Given the description of an element on the screen output the (x, y) to click on. 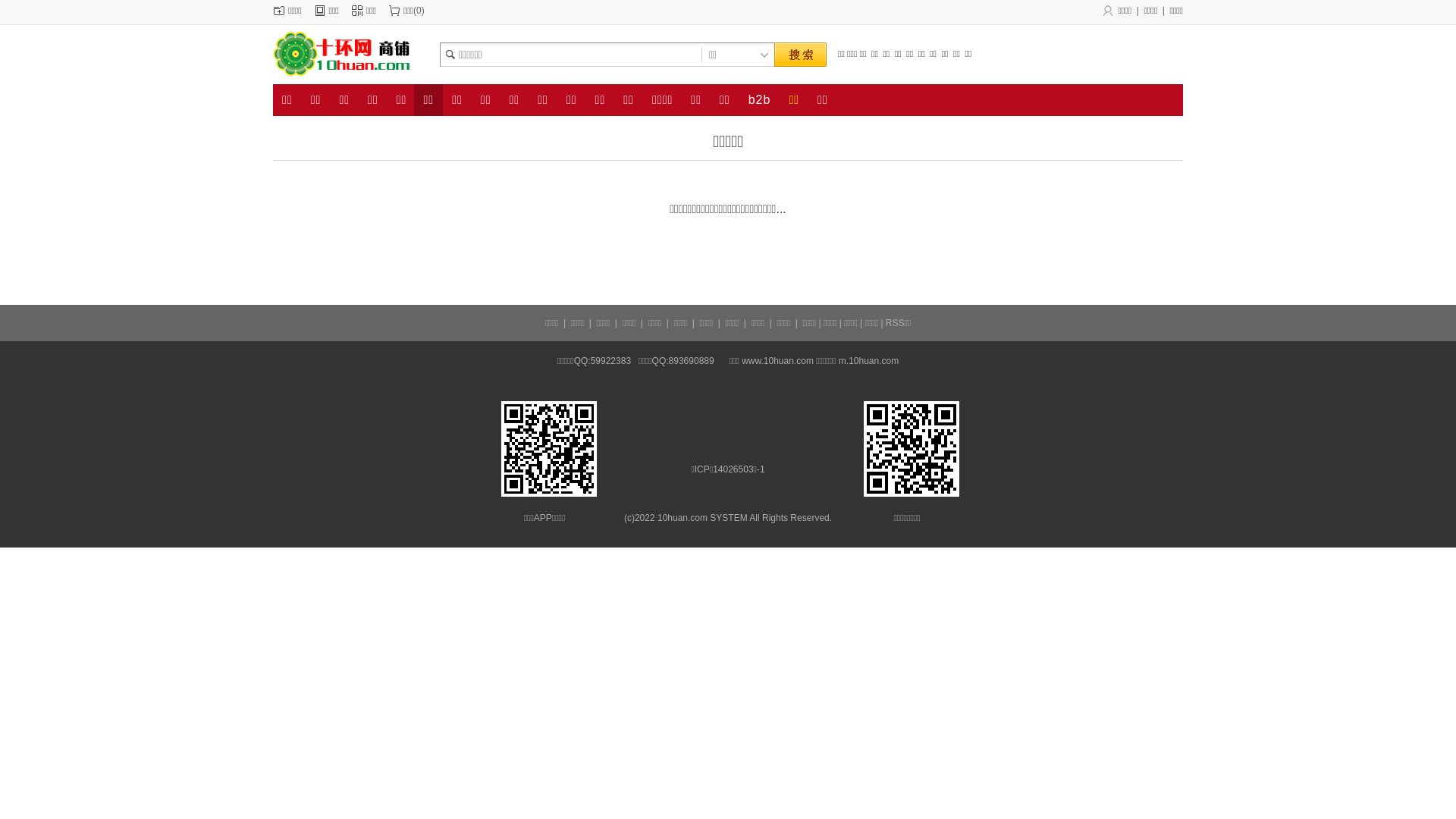
  Element type: text (799, 54)
b2b Element type: text (759, 100)
www.10huan.com Element type: text (777, 360)
m.10huan.com Element type: text (868, 360)
